Given the description of an element on the screen output the (x, y) to click on. 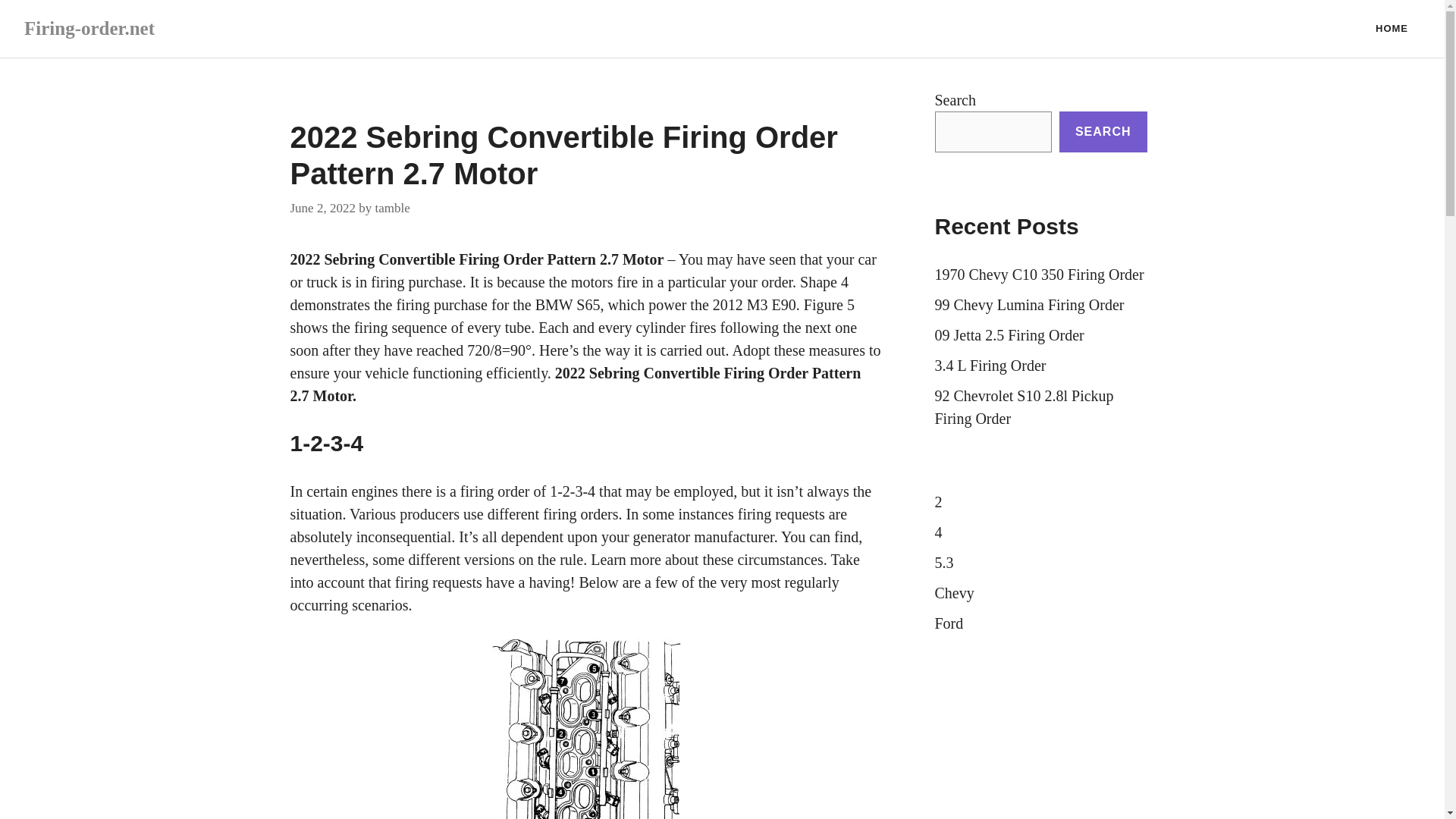
2022 Sebring Convertible Firing Order Pattern 2.7 Motor (476, 258)
Chevy (954, 592)
Ford (948, 623)
SEARCH (1103, 131)
3.4 L Firing Order (989, 365)
92 Chevrolet S10 2.8l Pickup Firing Order (1023, 406)
tamble (391, 206)
99 Chevy Lumina Firing Order (1029, 304)
1970 Chevy C10 350 Firing Order (1038, 274)
HOME (1391, 28)
09 Jetta 2.5 Firing Order (1008, 334)
5.3 (943, 562)
Firing-order.net (89, 28)
View all posts by tamble (391, 206)
